Given the description of an element on the screen output the (x, y) to click on. 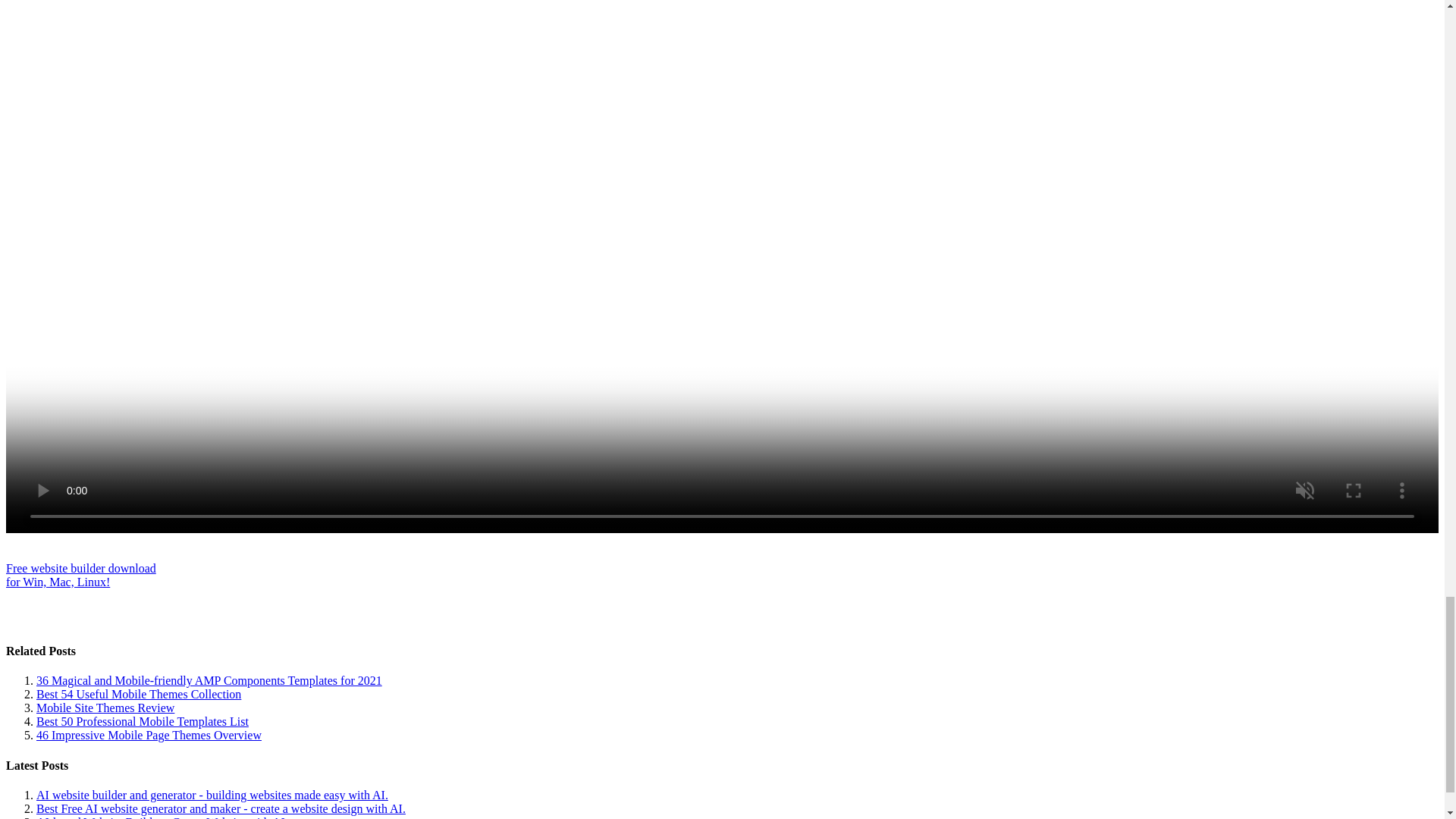
Best 50 Professional Mobile Templates List (142, 721)
AI-based Website Builder - Create Website with AI (160, 817)
46 Impressive Mobile Page Themes Overview (80, 574)
Mobile Site Themes Review (149, 735)
Best 54 Useful Mobile Themes Collection (105, 707)
